Given the description of an element on the screen output the (x, y) to click on. 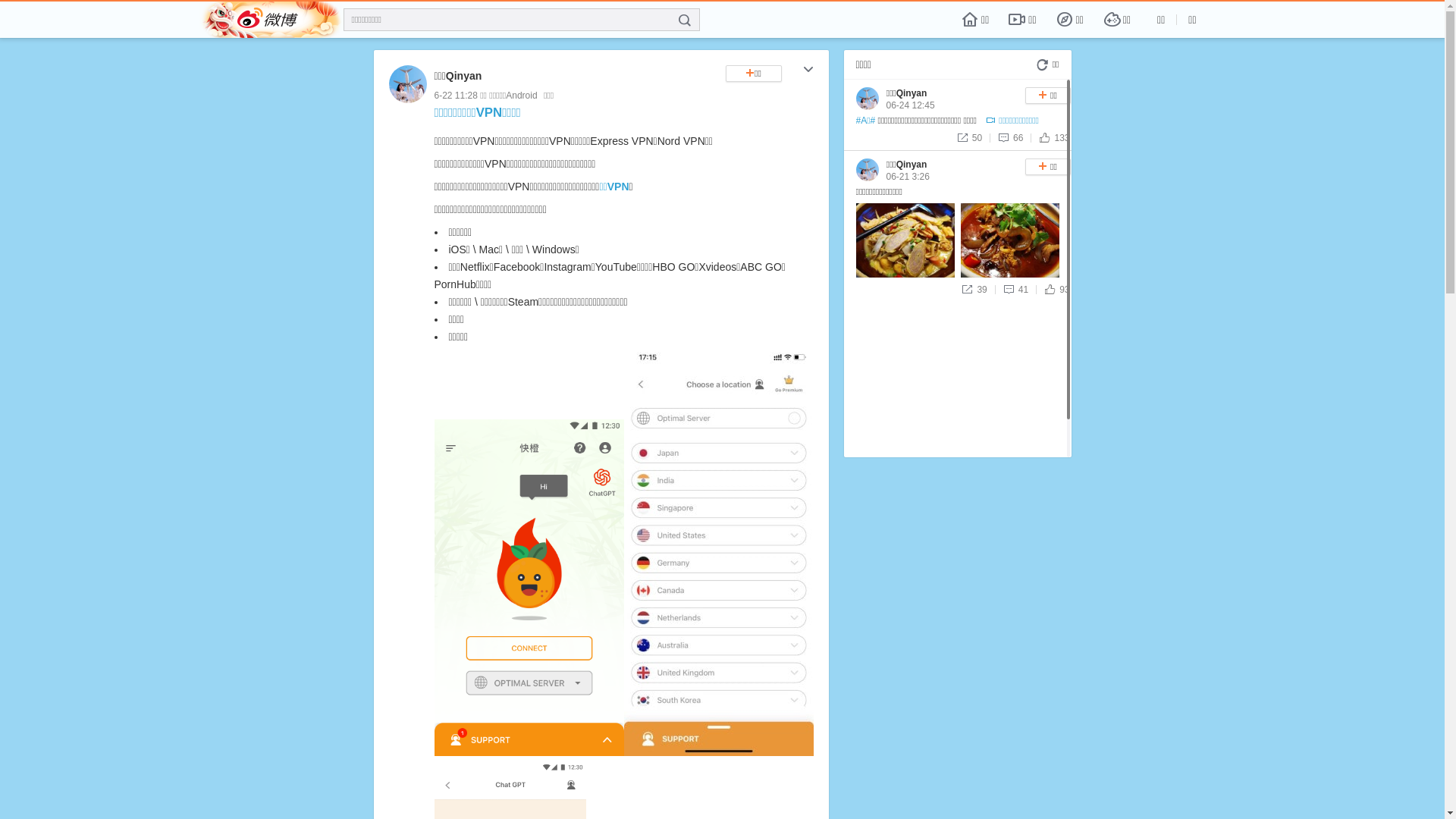
f Element type: text (684, 20)
06-24 12:45 Element type: text (909, 105)
c Element type: text (808, 70)
6-22 11:28 Element type: text (454, 95)
06-21 3:26 Element type: text (906, 176)
